Given the description of an element on the screen output the (x, y) to click on. 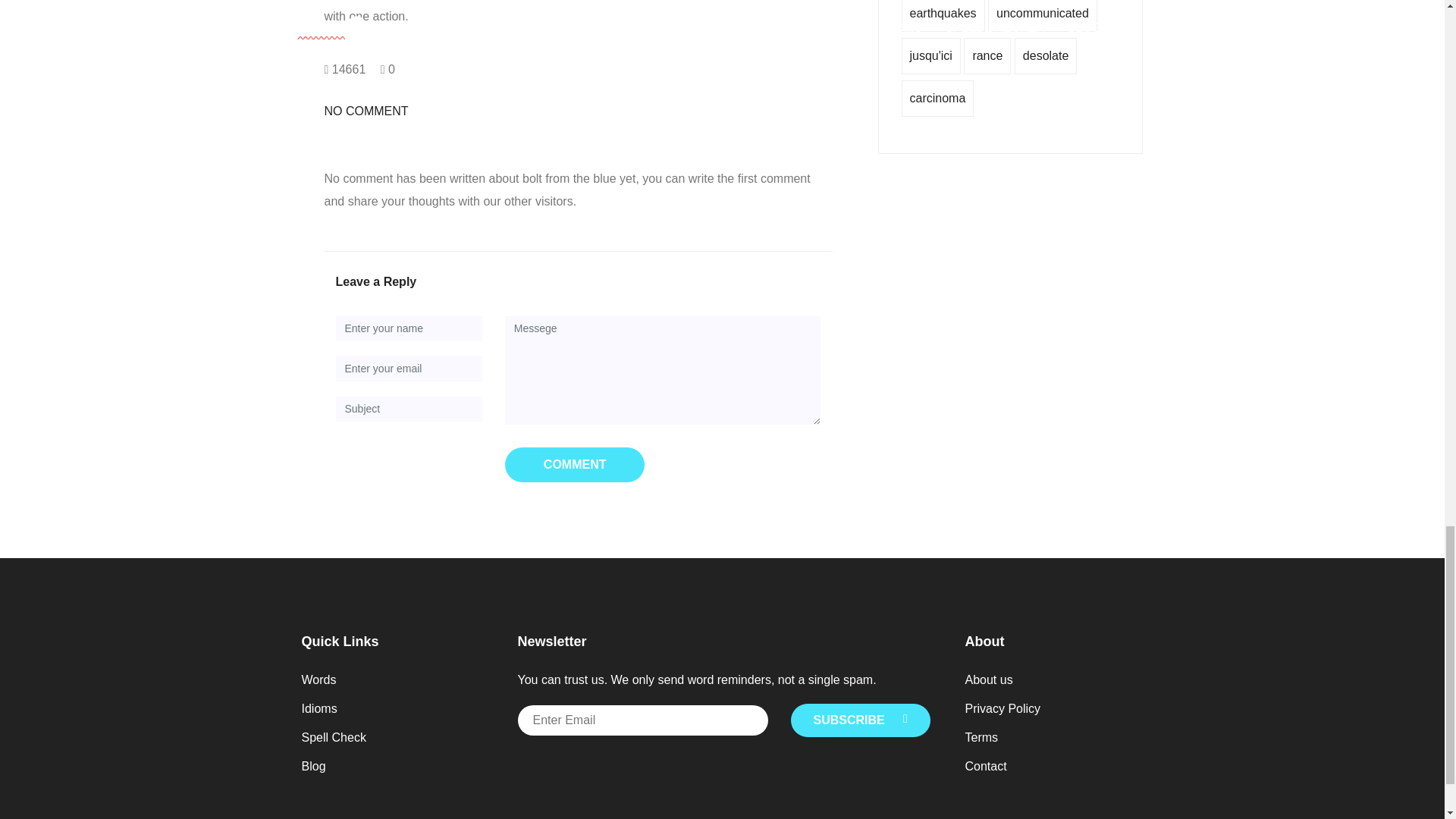
14661 (345, 69)
COMMENT (575, 464)
0 (387, 69)
